Given the description of an element on the screen output the (x, y) to click on. 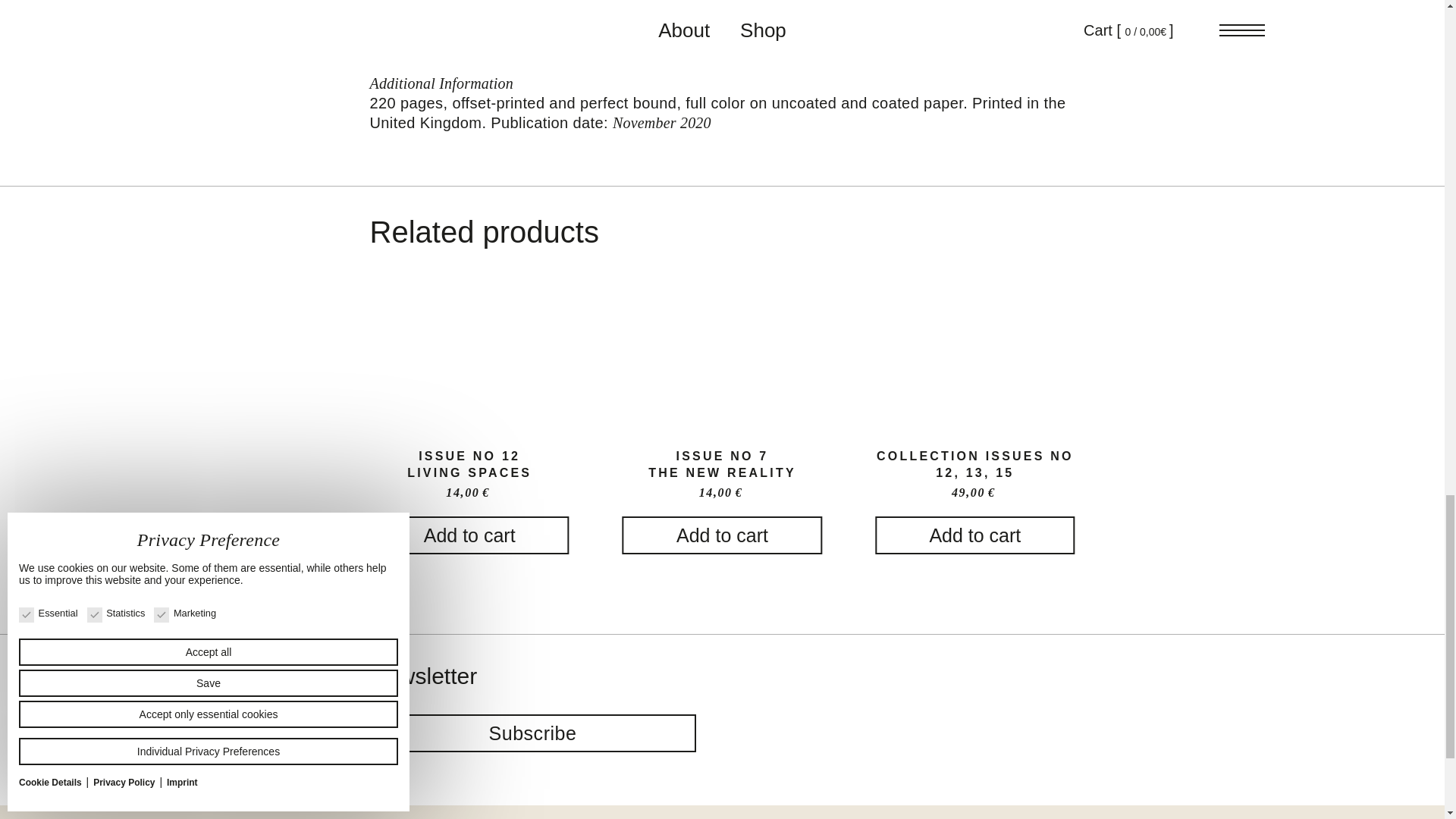
Add to cart (722, 535)
Add to cart (469, 535)
Subscribe (532, 733)
Add to cart (974, 535)
